Given the description of an element on the screen output the (x, y) to click on. 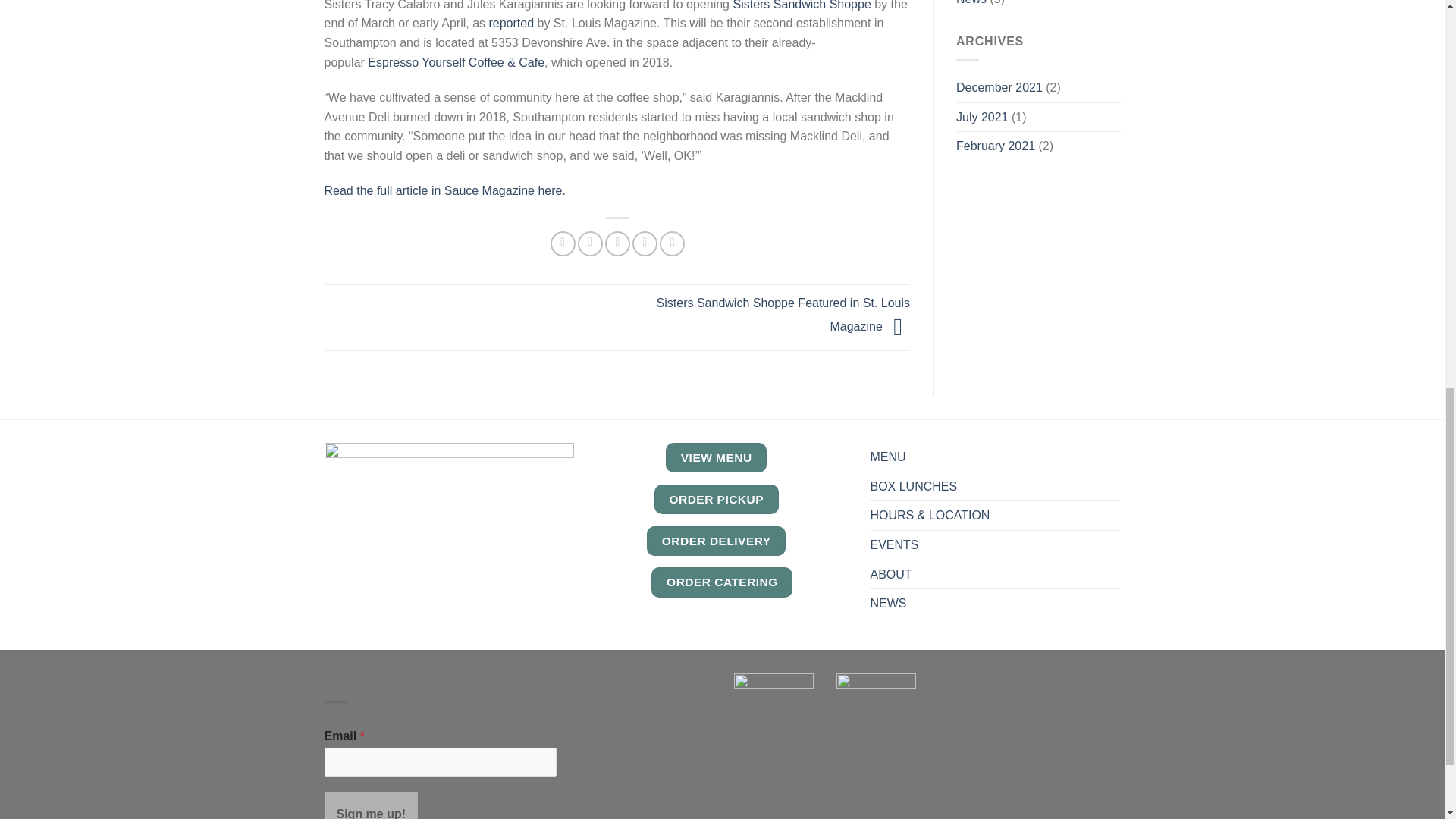
reported (510, 22)
Read the full article in Sauce Magazine here. (445, 190)
Sisters Sandwich Shoppe (801, 5)
Pin on Pinterest (644, 243)
Share on LinkedIn (671, 243)
Email to a Friend (617, 243)
Sisters Sandwich Shoppe Featured in St. Louis Magazine (783, 314)
Share on Facebook (562, 243)
Share on Twitter (590, 243)
